Given the description of an element on the screen output the (x, y) to click on. 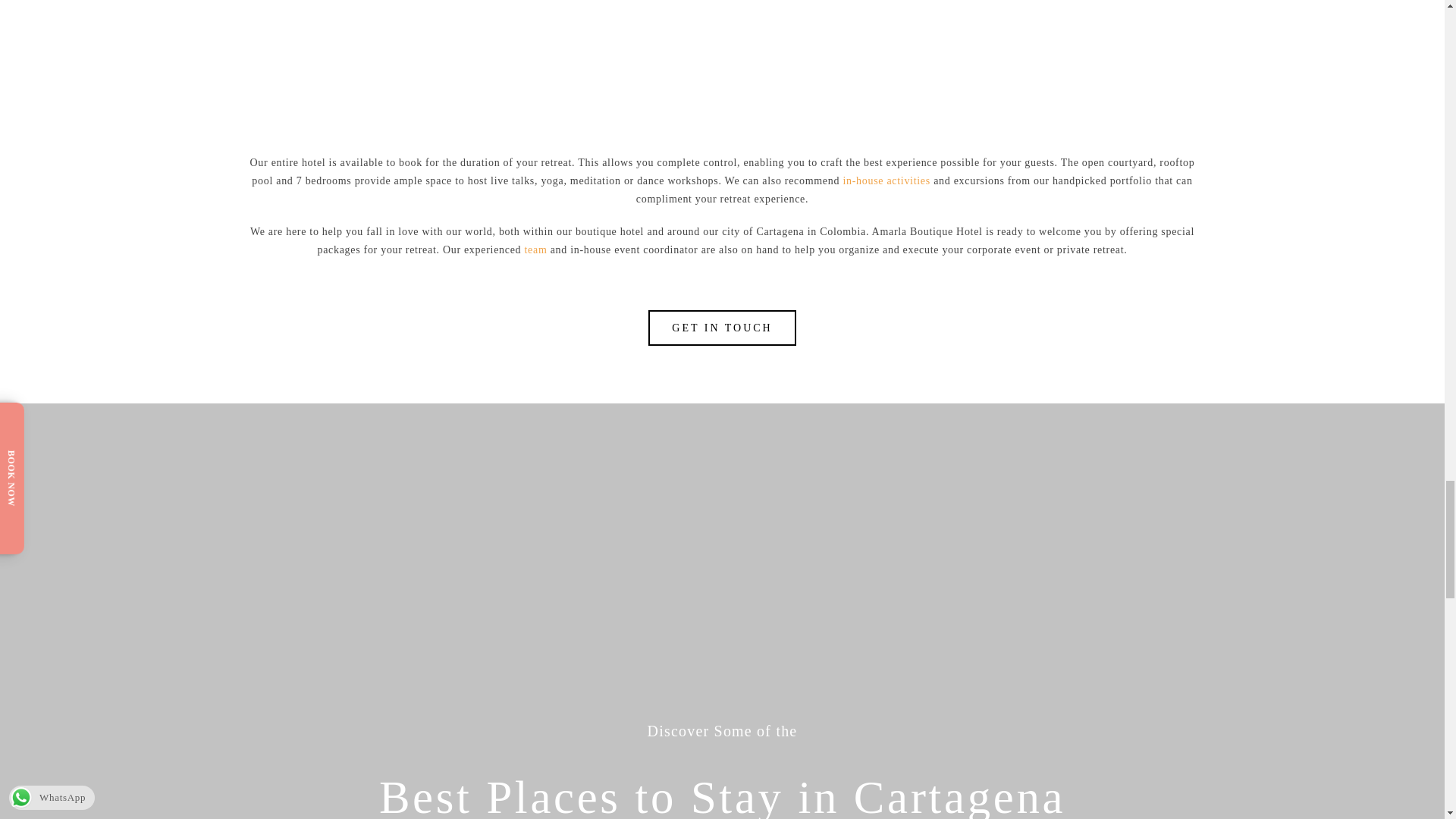
team (535, 249)
GET IN TOUCH (720, 327)
in-house activities (886, 180)
Amarla Retreats Cartagena Rooftop Pool (428, 58)
